Given the description of an element on the screen output the (x, y) to click on. 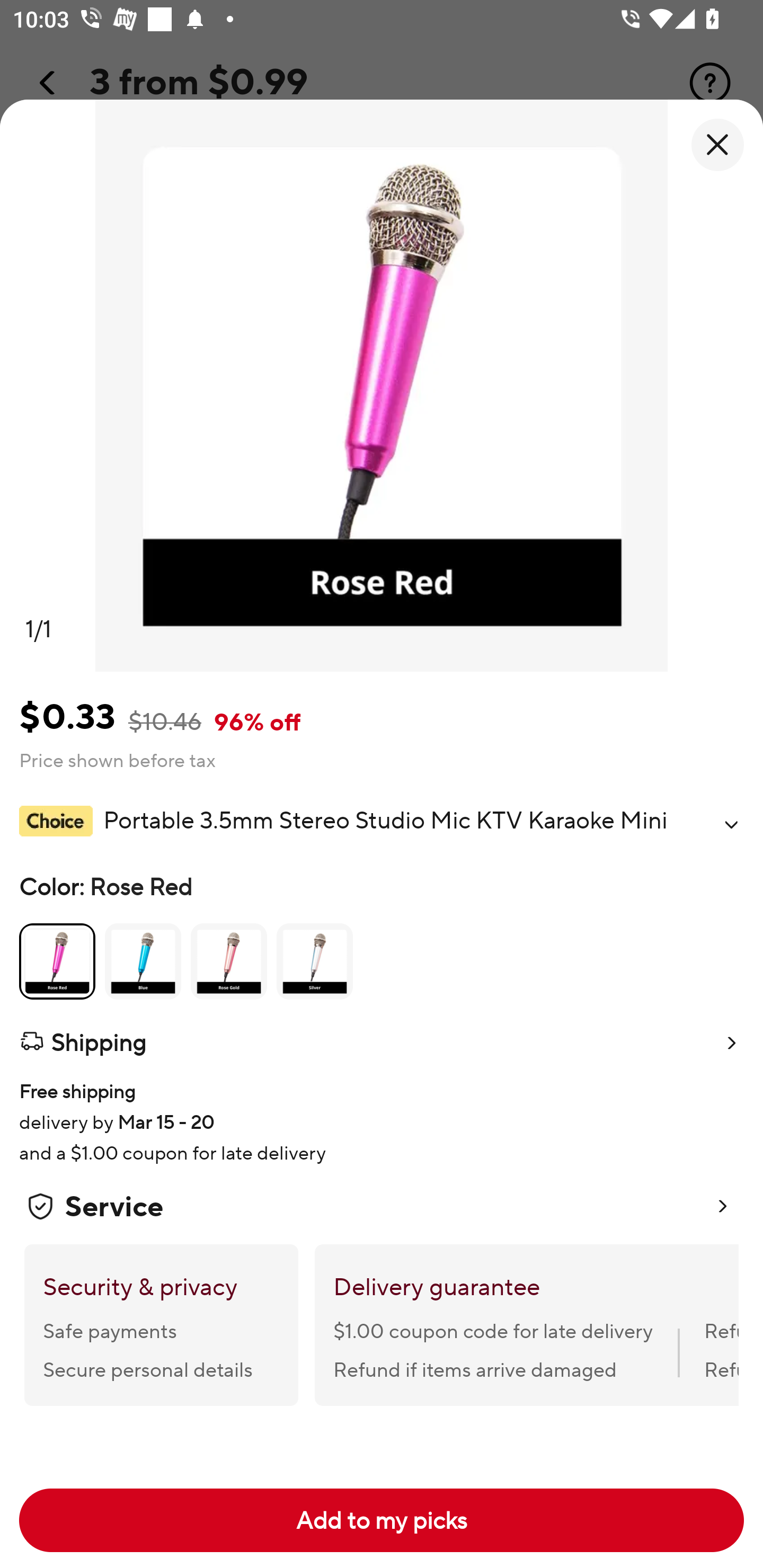
close  (717, 144)
 (730, 824)
Add to my picks (381, 1520)
